Given the description of an element on the screen output the (x, y) to click on. 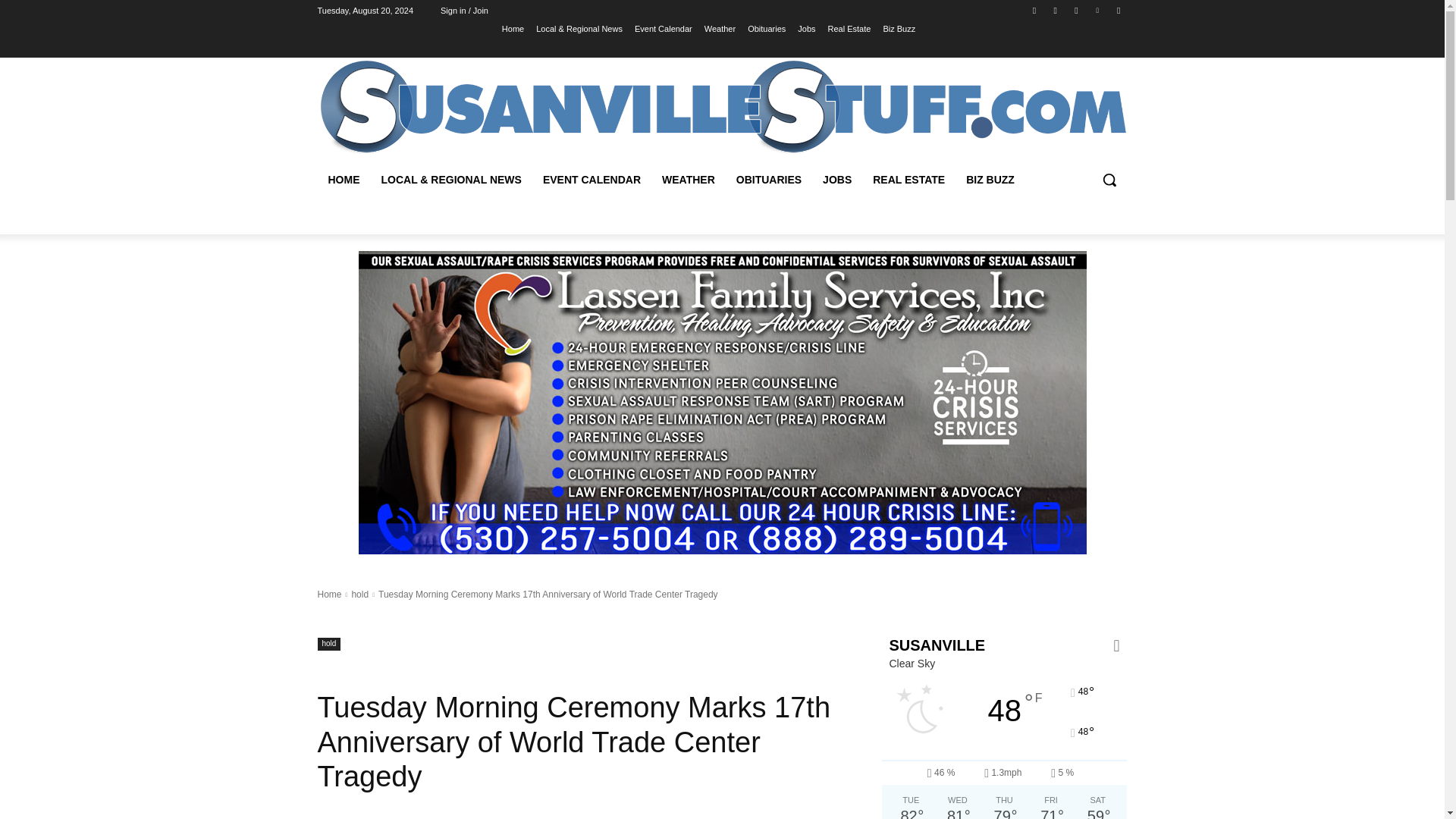
OBITUARIES (768, 179)
Weather (719, 28)
WEATHER (687, 179)
BIZ BUZZ (990, 179)
Instagram (1055, 9)
Obituaries (767, 28)
Twitter (1075, 9)
Home (513, 28)
Vimeo (1097, 9)
REAL ESTATE (908, 179)
